Given the description of an element on the screen output the (x, y) to click on. 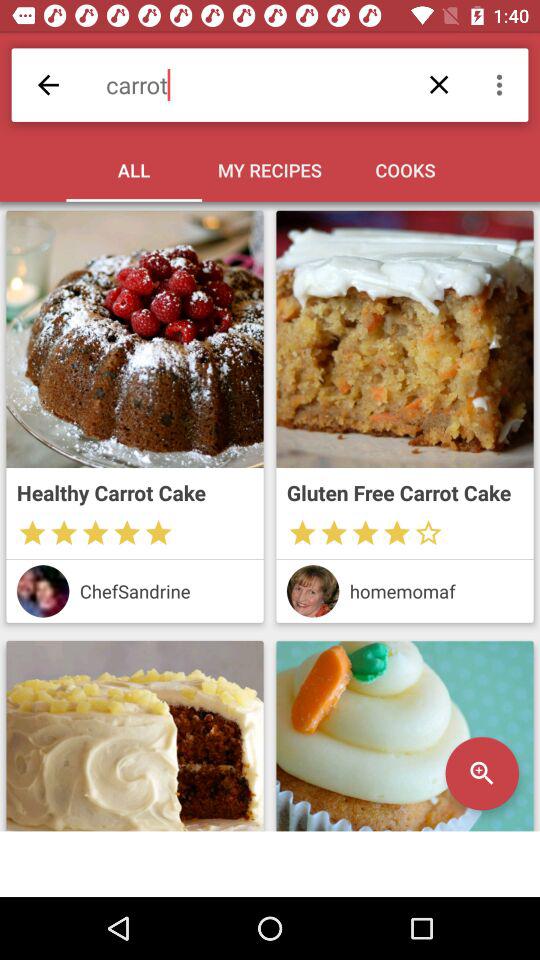
show user 's profile (312, 591)
